Given the description of an element on the screen output the (x, y) to click on. 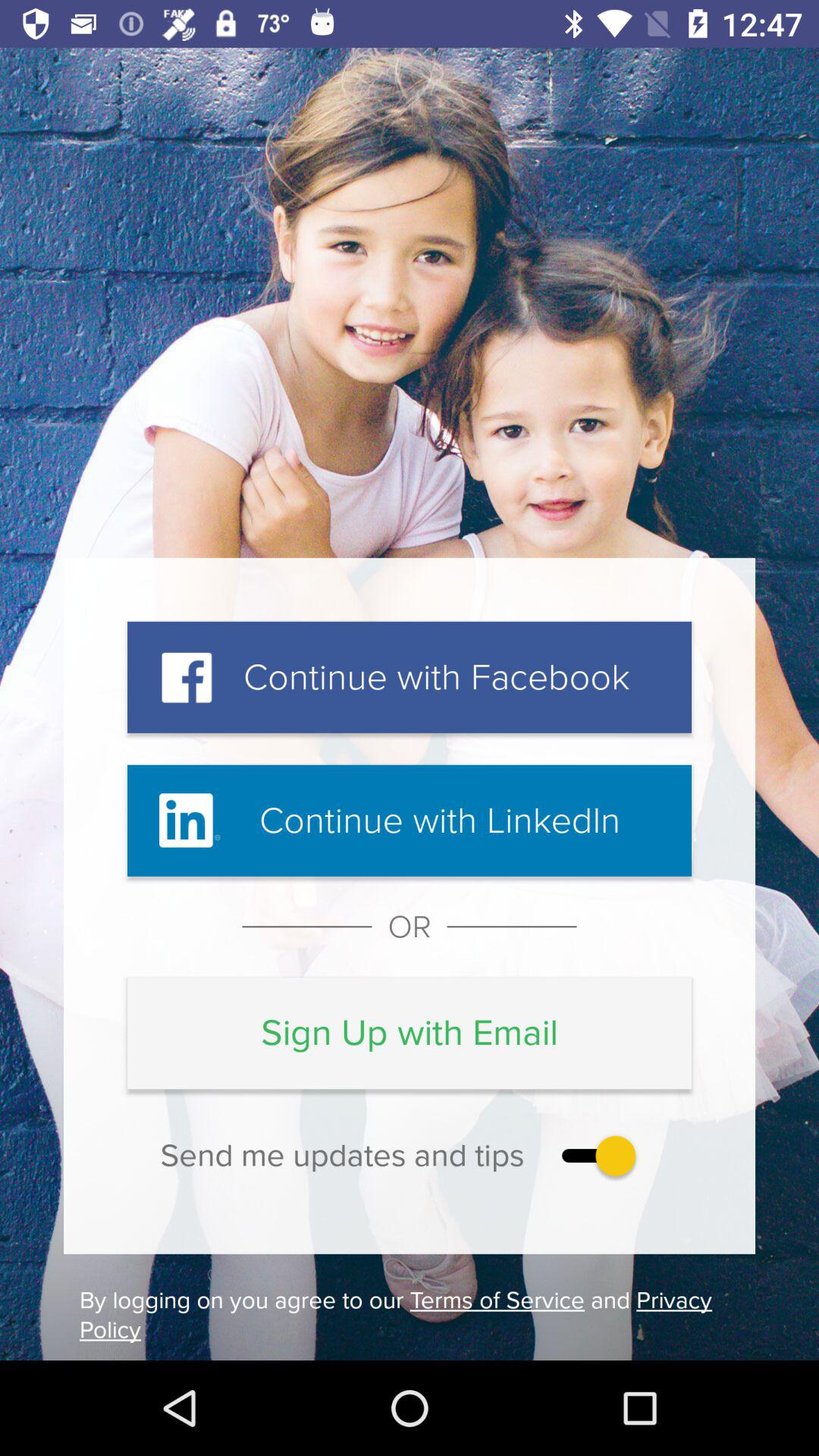
turn off the item below the or icon (409, 1033)
